Given the description of an element on the screen output the (x, y) to click on. 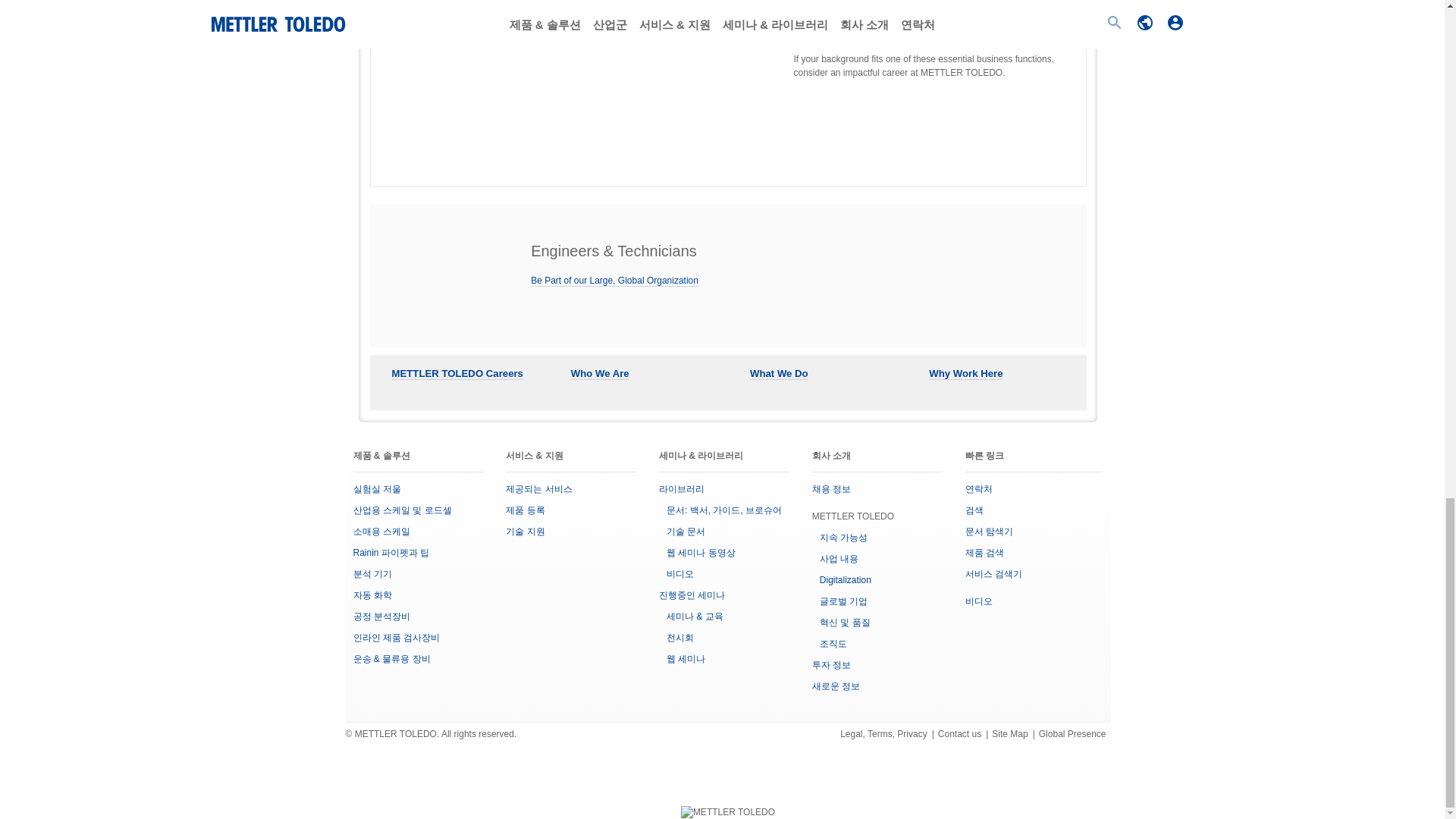
Why Work Here (965, 373)
Who We Are (599, 373)
METTLER TOLEDO Careers (456, 373)
What We Do (778, 373)
Be Part of our Large, Global Organization (614, 280)
